Given the description of an element on the screen output the (x, y) to click on. 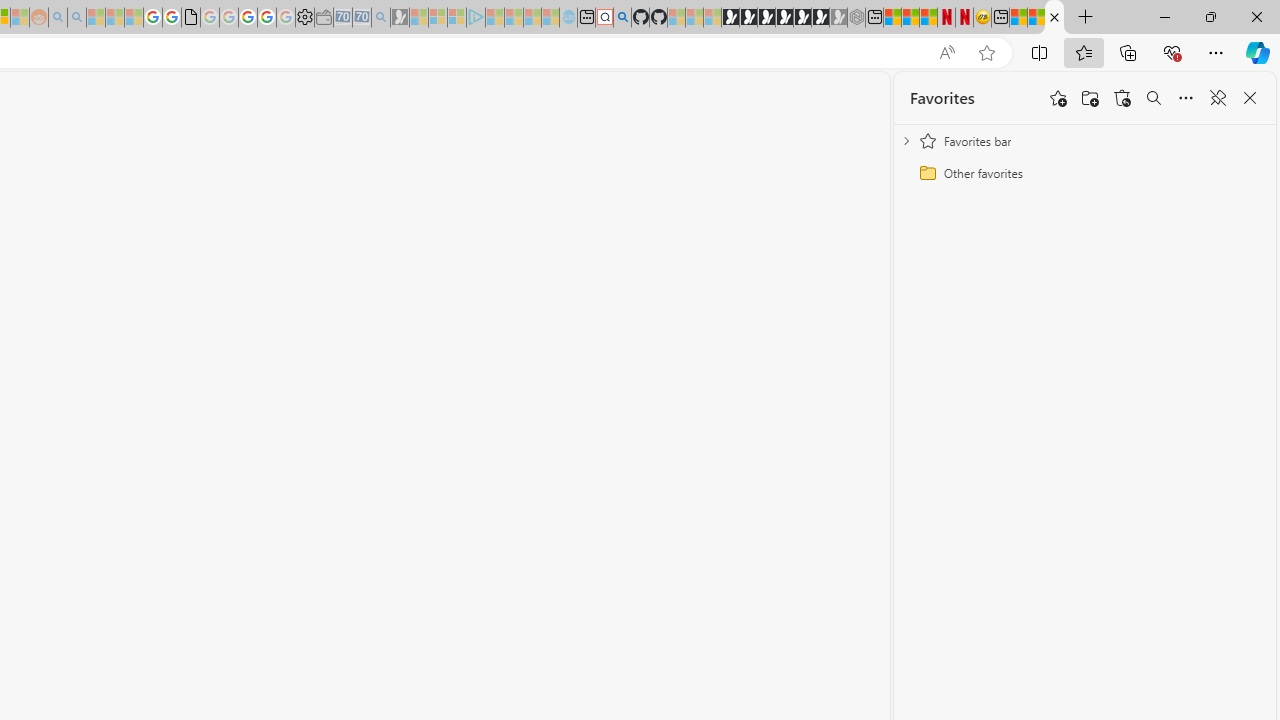
Microsoft Start - Sleeping (532, 17)
Wallet - Sleeping (323, 17)
Play Cave FRVR in your browser | Games from Microsoft Start (765, 17)
Search favorites (1153, 98)
Add this page to favorites (1058, 98)
